Given the description of an element on the screen output the (x, y) to click on. 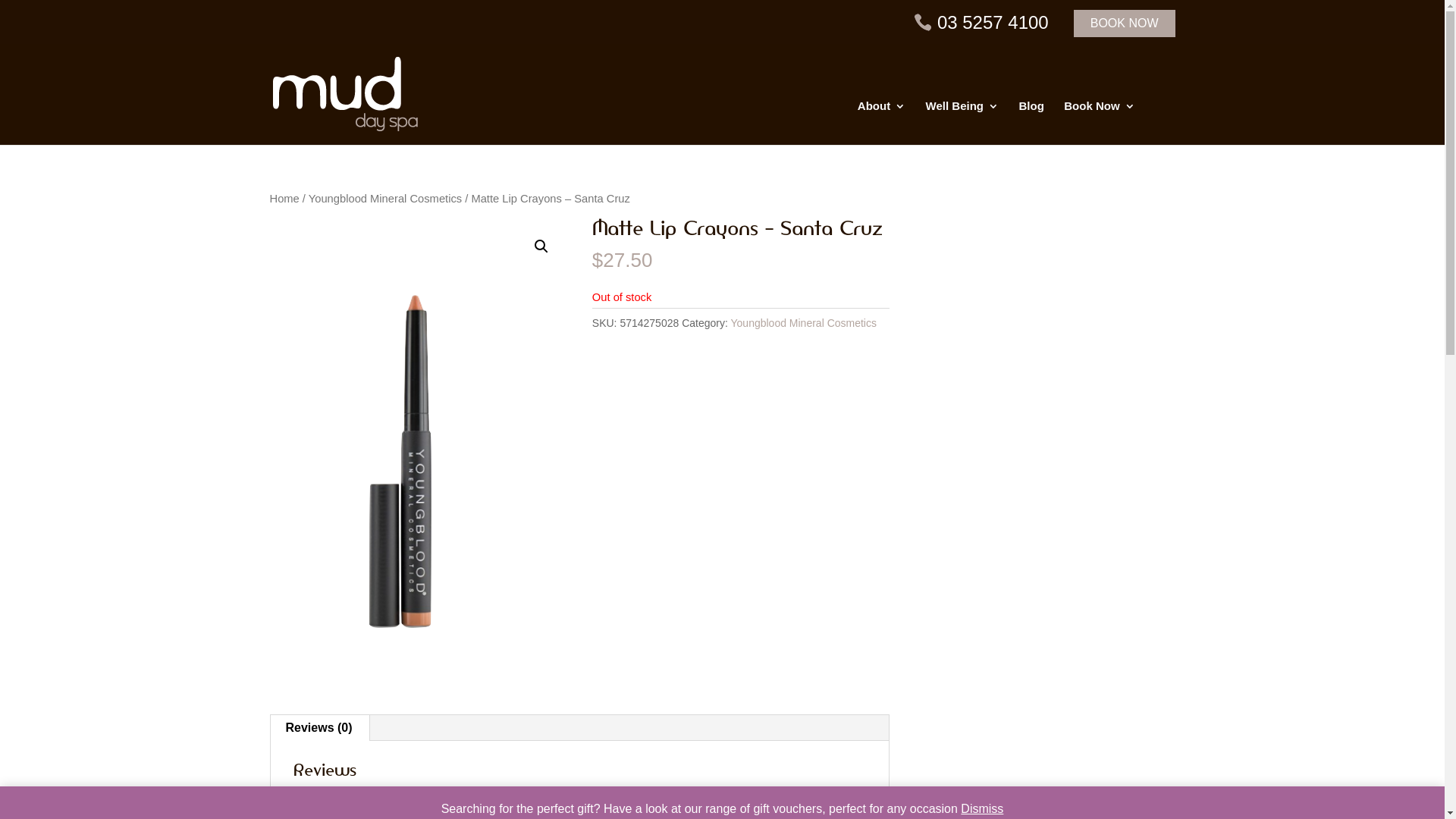
Dismiss Element type: text (981, 808)
Youngblood Mineral Cosmetics Element type: text (384, 198)
About Element type: text (881, 122)
Blog Element type: text (1030, 122)
Youngblood Mineral Cosmetics Element type: text (803, 322)
Reviews (0) Element type: text (318, 727)
Book Now Element type: text (1098, 122)
Home Element type: text (284, 198)
santa cruz Element type: hover (418, 455)
Well Being Element type: text (961, 122)
BOOK NOW Element type: text (1124, 23)
